Given the description of an element on the screen output the (x, y) to click on. 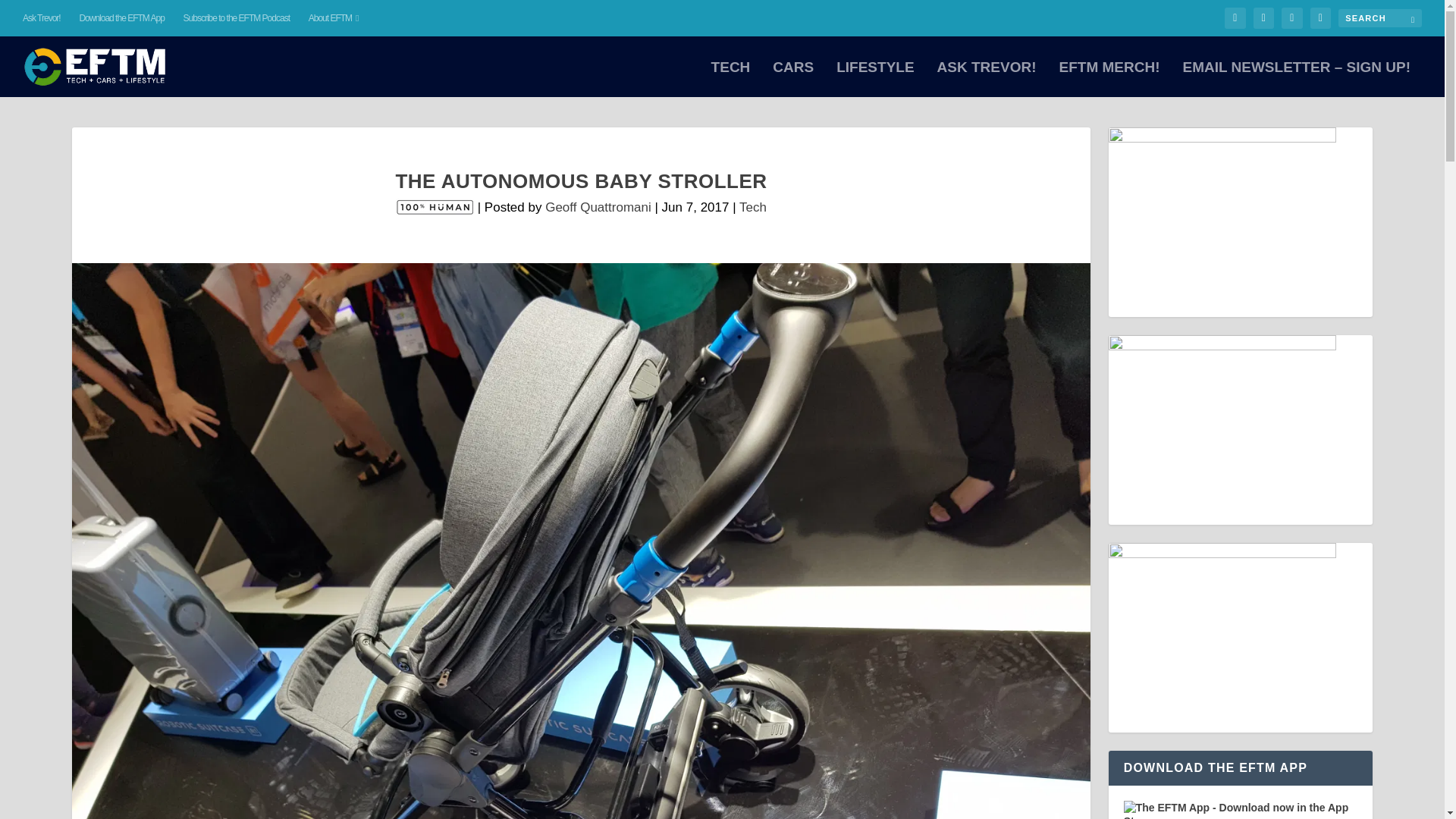
Tech (753, 206)
Download the EFTM App (120, 18)
EFTM MERCH! (1108, 79)
Posts by Geoff Quattromani (597, 206)
Search for: (1380, 18)
Subscribe to the EFTM Podcast (236, 18)
CARS (793, 79)
Geoff Quattromani (597, 206)
Ask Trevor! (42, 18)
ASK TREVOR! (986, 79)
About EFTM (333, 18)
TECH (731, 79)
LIFESTYLE (874, 79)
